Given the description of an element on the screen output the (x, y) to click on. 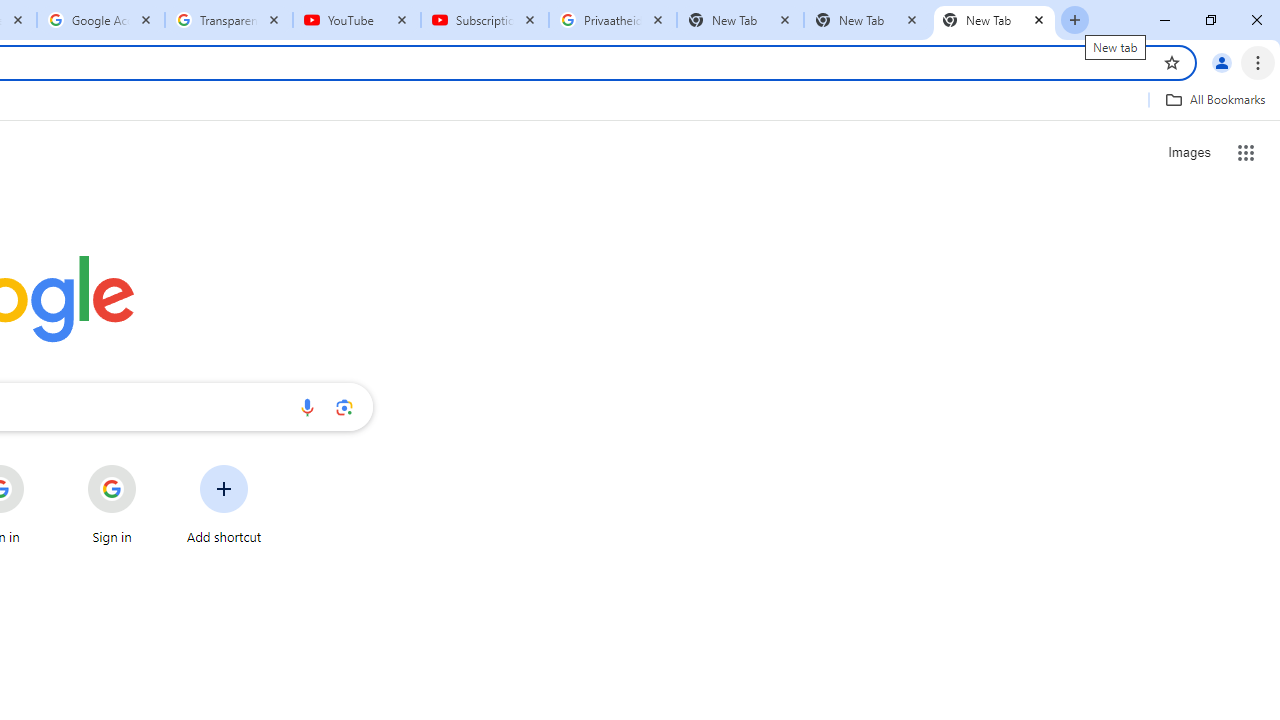
Subscriptions - YouTube (485, 20)
New Tab (866, 20)
